Given the description of an element on the screen output the (x, y) to click on. 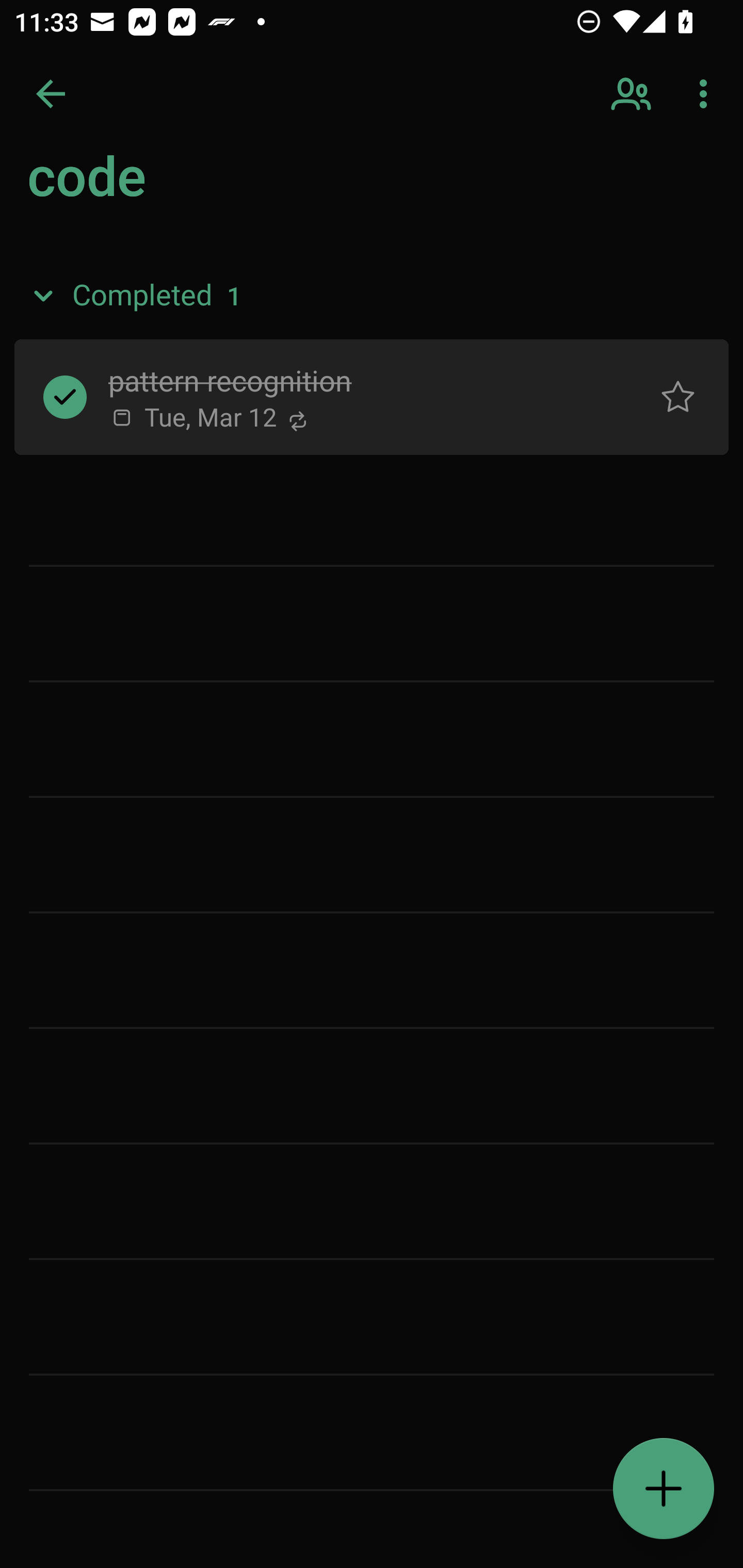
Back (50, 93)
Sharing options (632, 93)
More options (706, 93)
My Day, 0 tasks (182, 187)
Important, 0 tasks (182, 274)
Completed task pattern recognition, Button (64, 397)
Normal task pattern recognition, Button (677, 397)
Add a task (663, 1488)
